Given the description of an element on the screen output the (x, y) to click on. 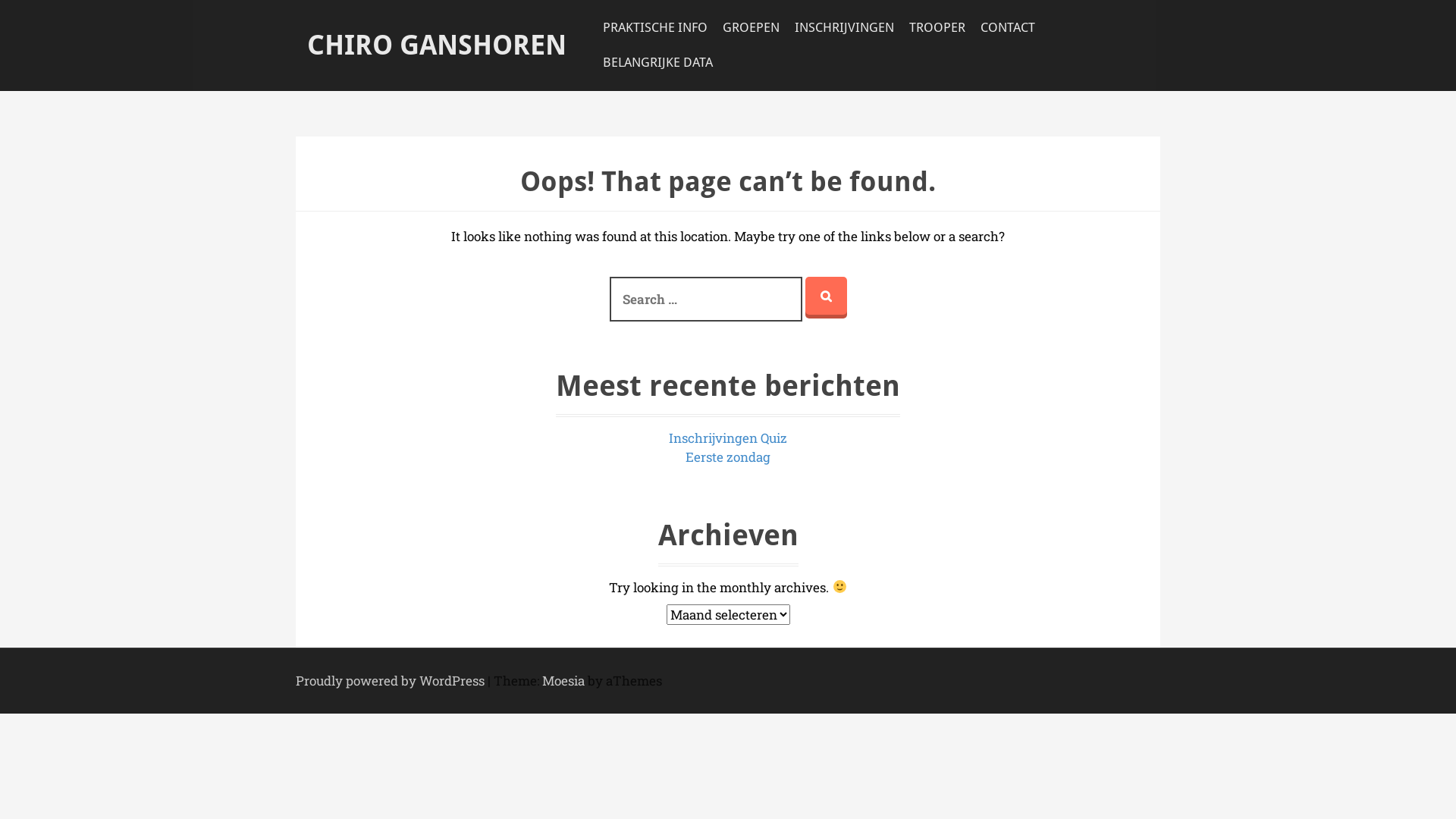
Moesia Element type: text (563, 680)
INSCHRIJVINGEN Element type: text (844, 27)
TROOPER Element type: text (937, 27)
CHIRO GANSHOREN Element type: text (436, 44)
GROEPEN Element type: text (750, 27)
BELANGRIJKE DATA Element type: text (657, 62)
Eerste zondag Element type: text (727, 456)
CONTACT Element type: text (1007, 27)
Proudly powered by WordPress Element type: text (389, 680)
PRAKTISCHE INFO Element type: text (654, 27)
Inschrijvingen Quiz Element type: text (727, 437)
Search for: Element type: hover (705, 299)
